Given the description of an element on the screen output the (x, y) to click on. 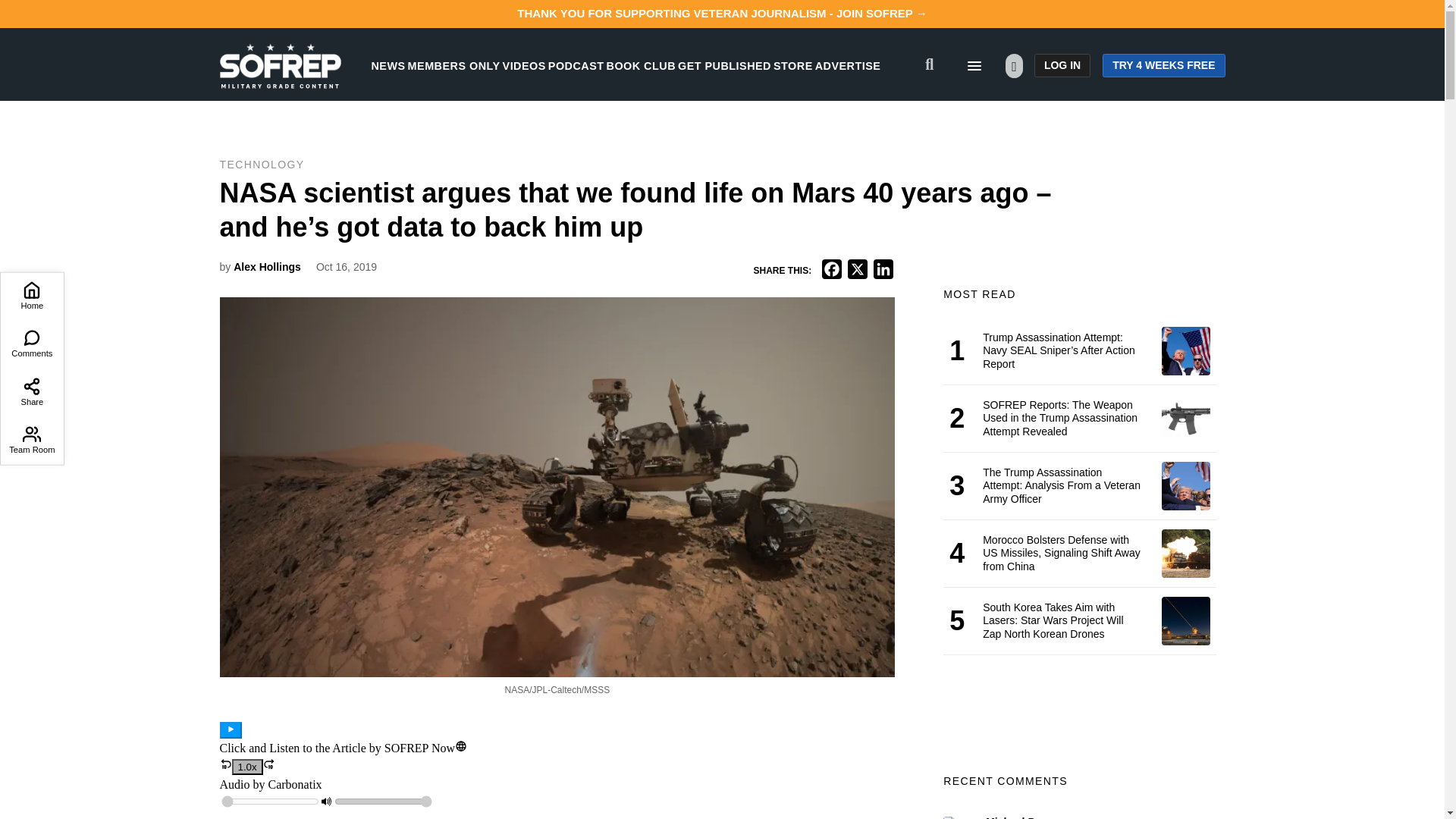
MEMBERS ONLY (453, 65)
VIDEOS (524, 65)
PODCAST (576, 65)
NEWS (388, 65)
ADVERTISE (847, 65)
BOOK CLUB (641, 65)
LOG IN (1061, 65)
STORE (792, 65)
GET PUBLISHED (724, 65)
TRY 4 WEEKS FREE (1163, 65)
